Given the description of an element on the screen output the (x, y) to click on. 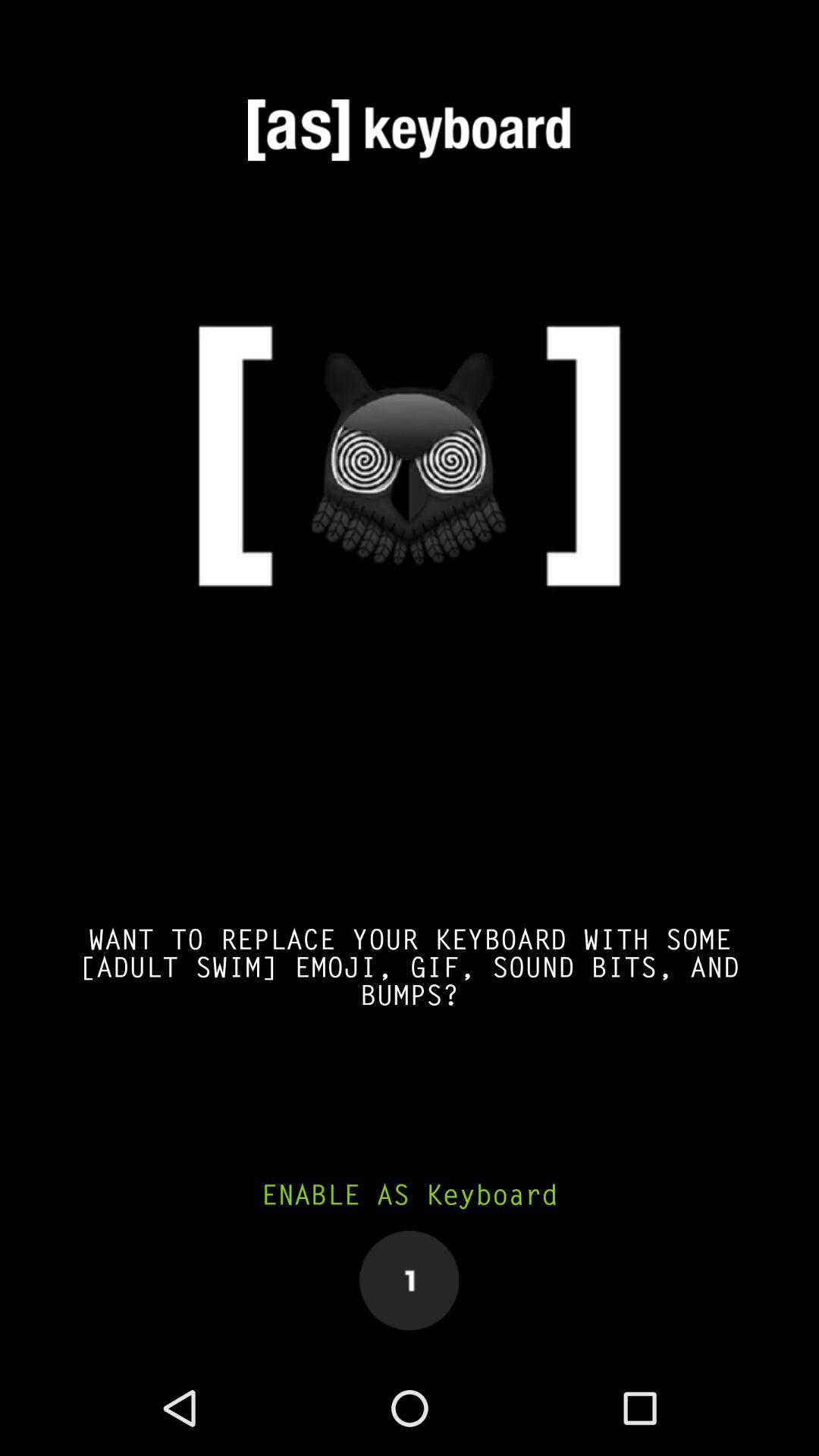
flip until enable as keyboard icon (409, 1194)
